Given the description of an element on the screen output the (x, y) to click on. 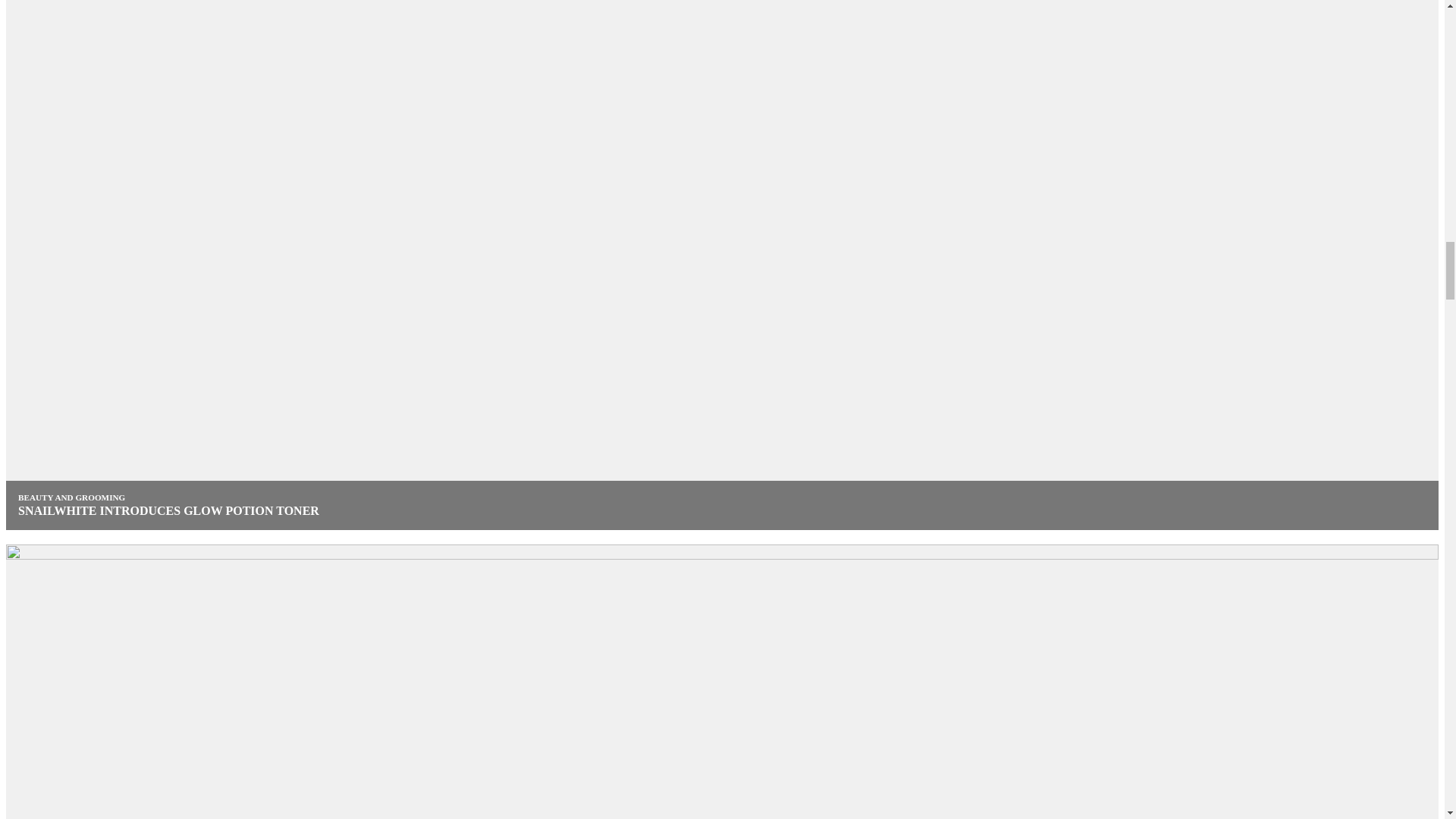
BEAUTY AND GROOMING (71, 497)
